Given the description of an element on the screen output the (x, y) to click on. 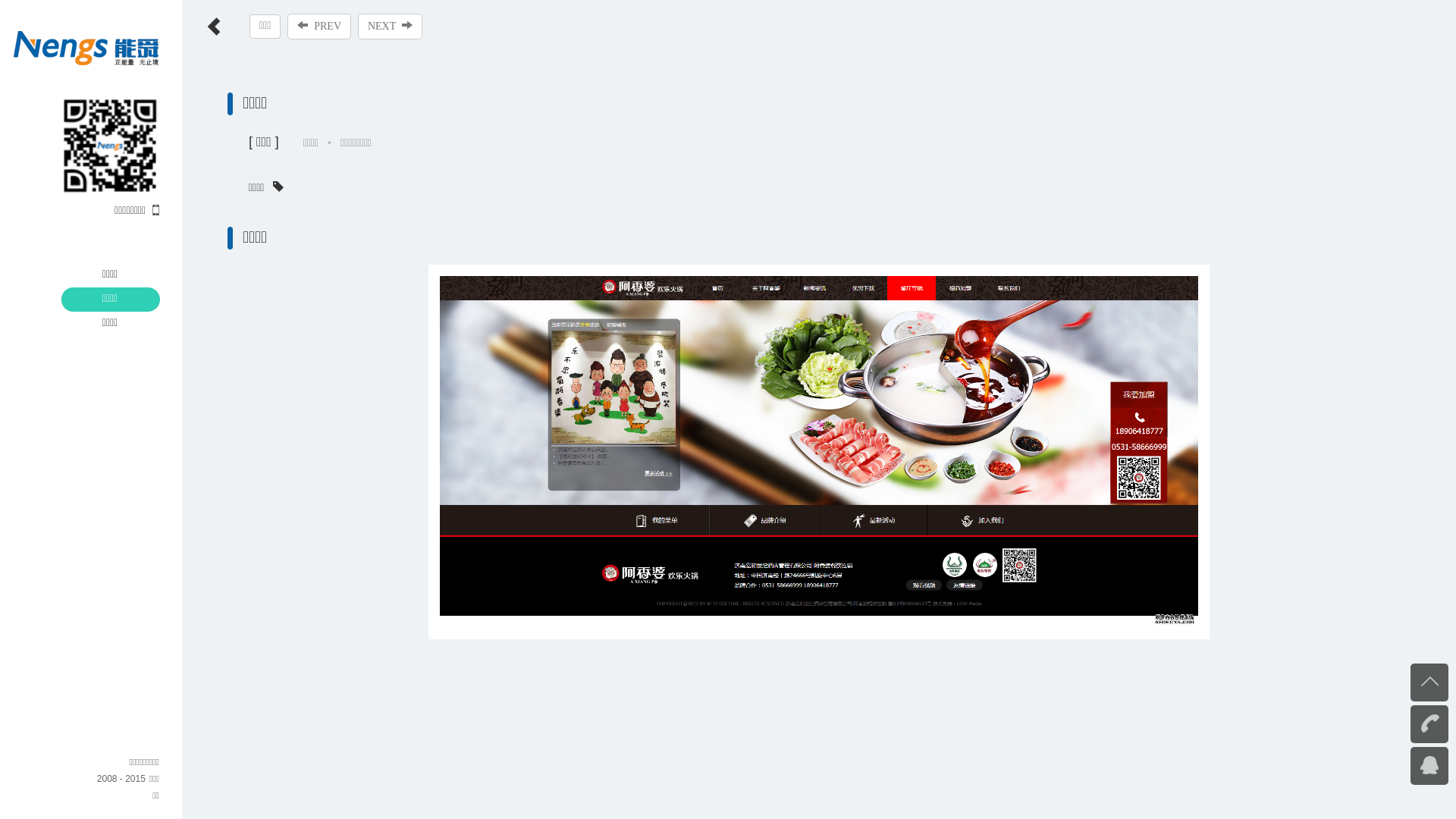
NEXT Element type: text (389, 26)
PREV Element type: text (319, 26)
